Given the description of an element on the screen output the (x, y) to click on. 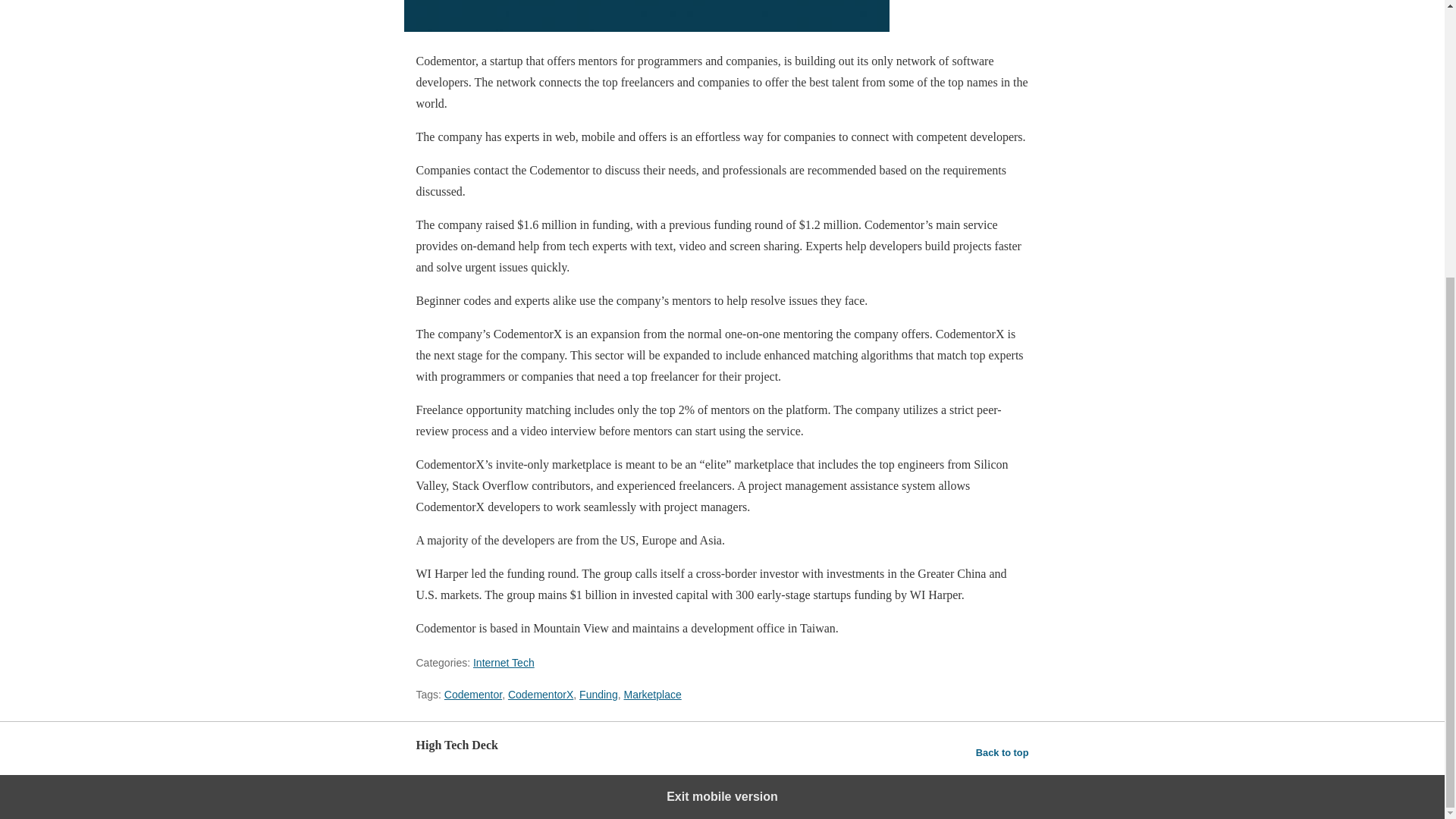
Codementor (473, 694)
CodementorX (540, 694)
Funding (598, 694)
Back to top (1002, 752)
Internet Tech (503, 662)
Marketplace (652, 694)
